Given the description of an element on the screen output the (x, y) to click on. 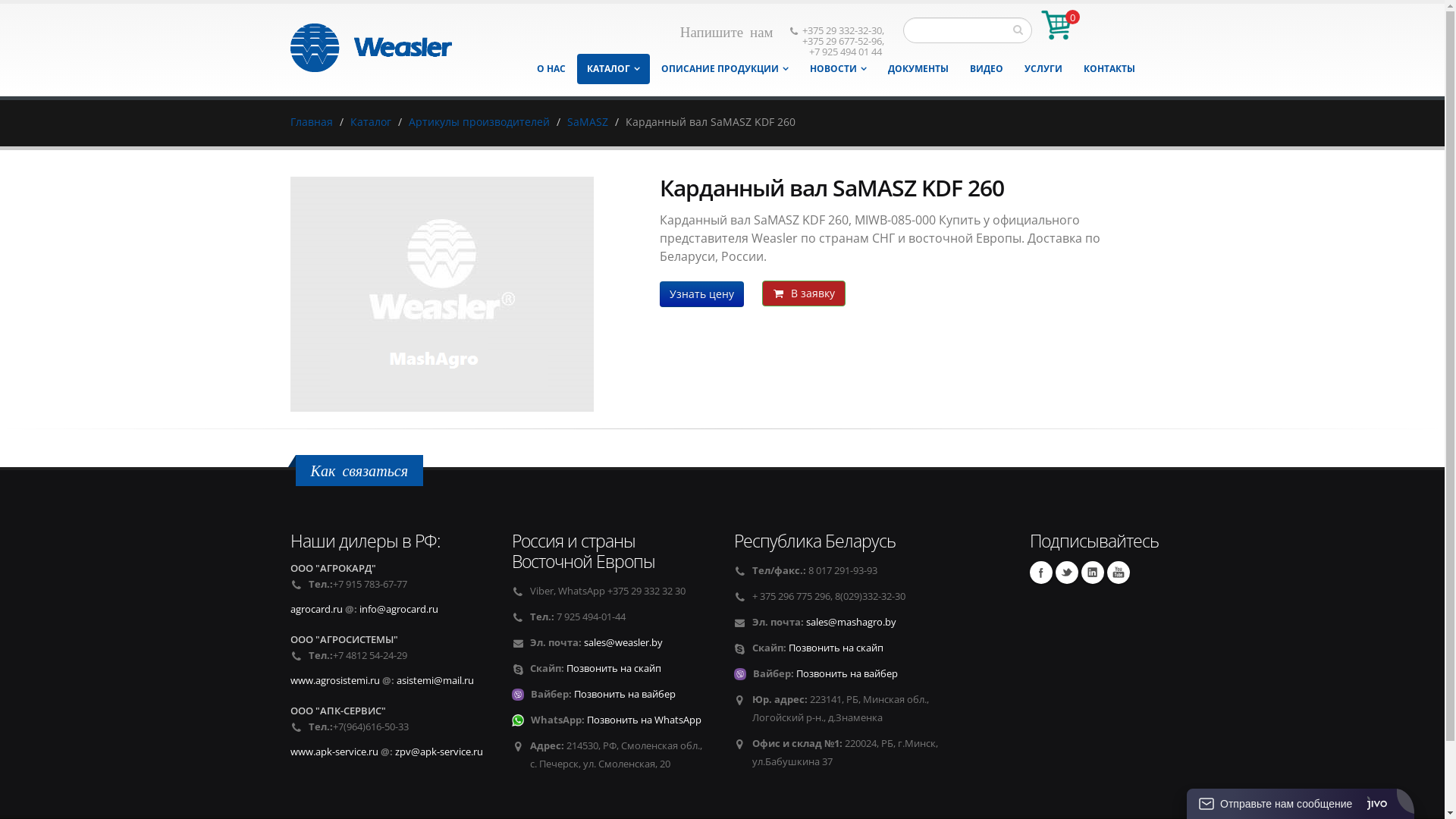
zpv@apk-service.ru Element type: text (438, 751)
info@agrocard.ru Element type: text (398, 608)
agrocard.ru Element type: text (315, 608)
SaMASZ Element type: text (587, 121)
Facebook Element type: text (1040, 572)
Youtube Element type: text (1118, 572)
www.apk-service.ru Element type: text (333, 751)
Linkedin Element type: text (1092, 572)
www.agrosistemi.ru Element type: text (334, 680)
0 Element type: text (1055, 23)
sales@weasler.by Element type: text (622, 642)
asistemi@mail.ru Element type: text (434, 680)
sales@mashagro.by Element type: text (850, 621)
Twitter Element type: text (1066, 572)
